Given the description of an element on the screen output the (x, y) to click on. 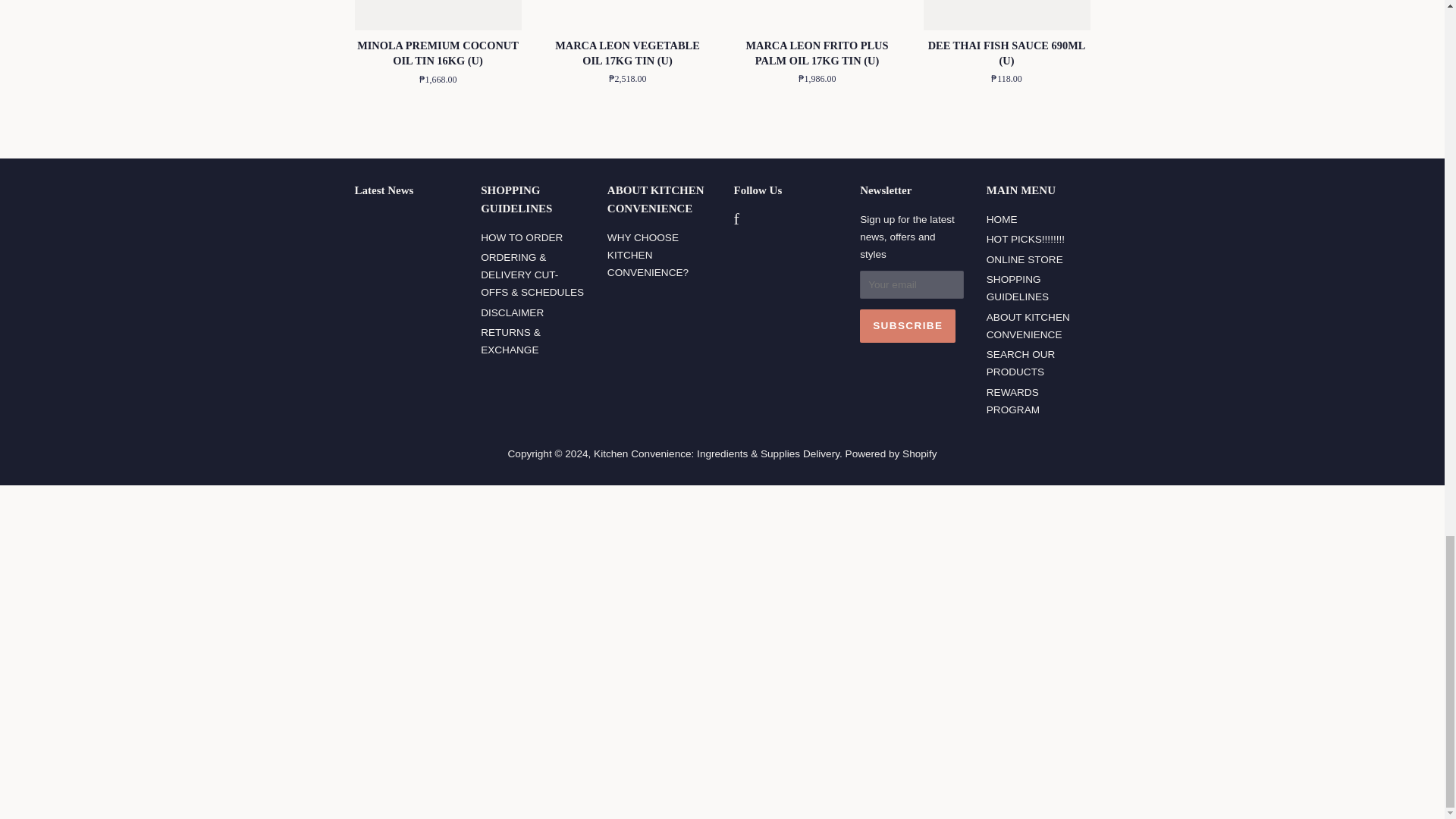
Subscribe (907, 326)
